Given the description of an element on the screen output the (x, y) to click on. 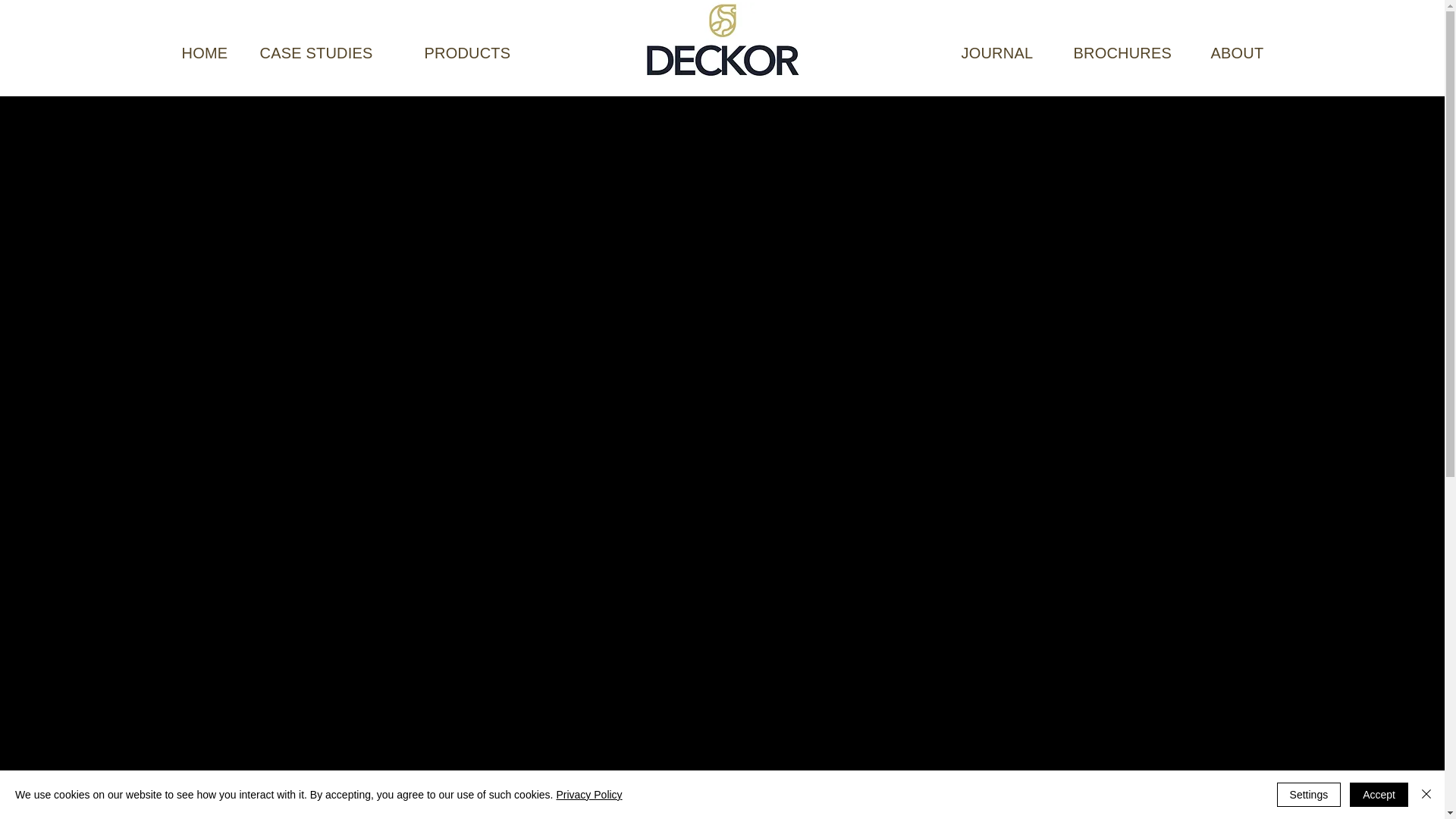
PRODUCTS (468, 53)
Privacy Policy (588, 794)
ABOUT (1236, 53)
Settings (1308, 794)
HOME (205, 53)
Accept (1378, 794)
